Given the description of an element on the screen output the (x, y) to click on. 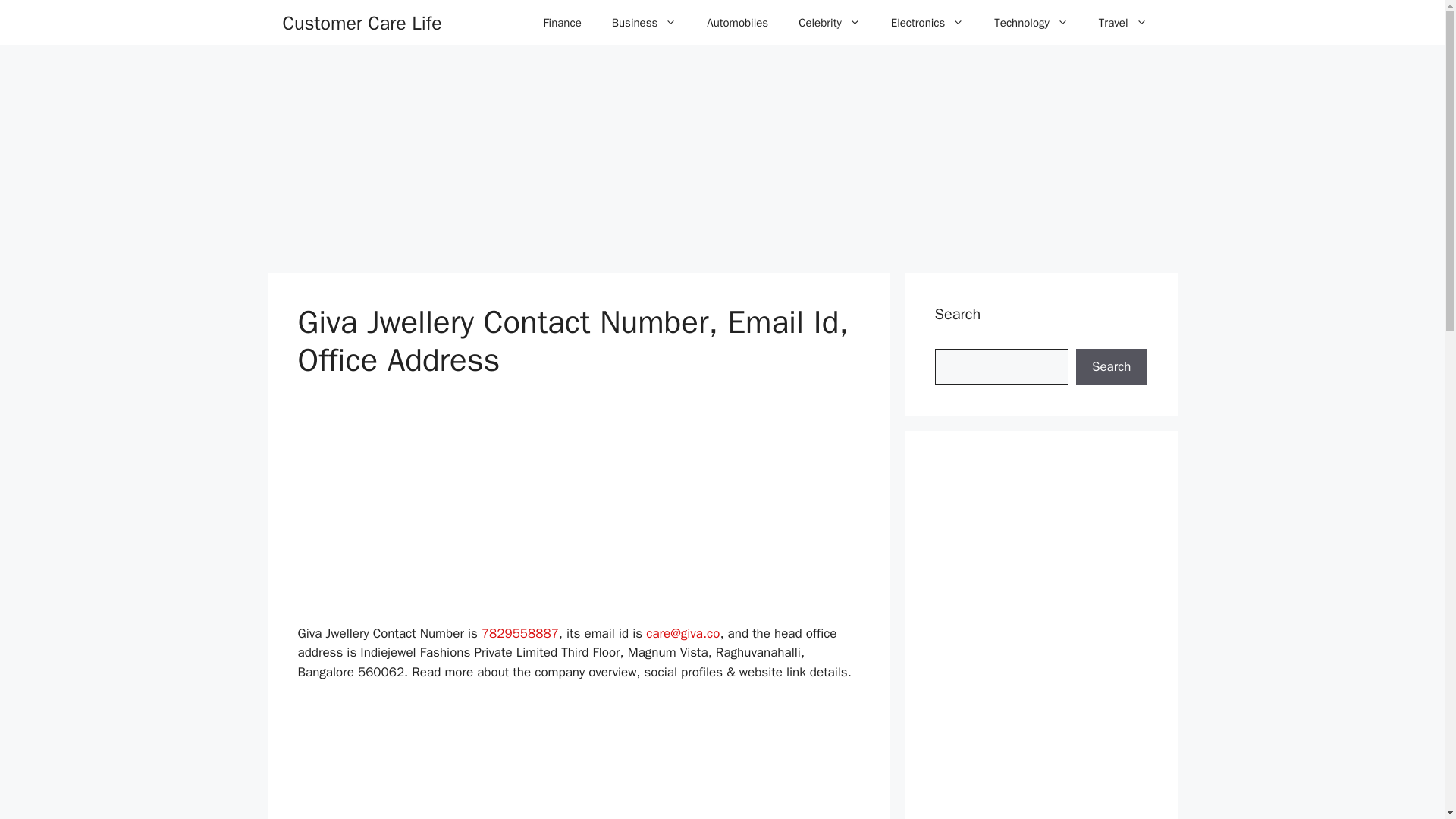
Business (644, 22)
Travel (1122, 22)
Celebrity (829, 22)
Customer Care Life (361, 22)
Search (1111, 366)
7829558887 (520, 633)
Finance (561, 22)
Electronics (927, 22)
Technology (1030, 22)
